Given the description of an element on the screen output the (x, y) to click on. 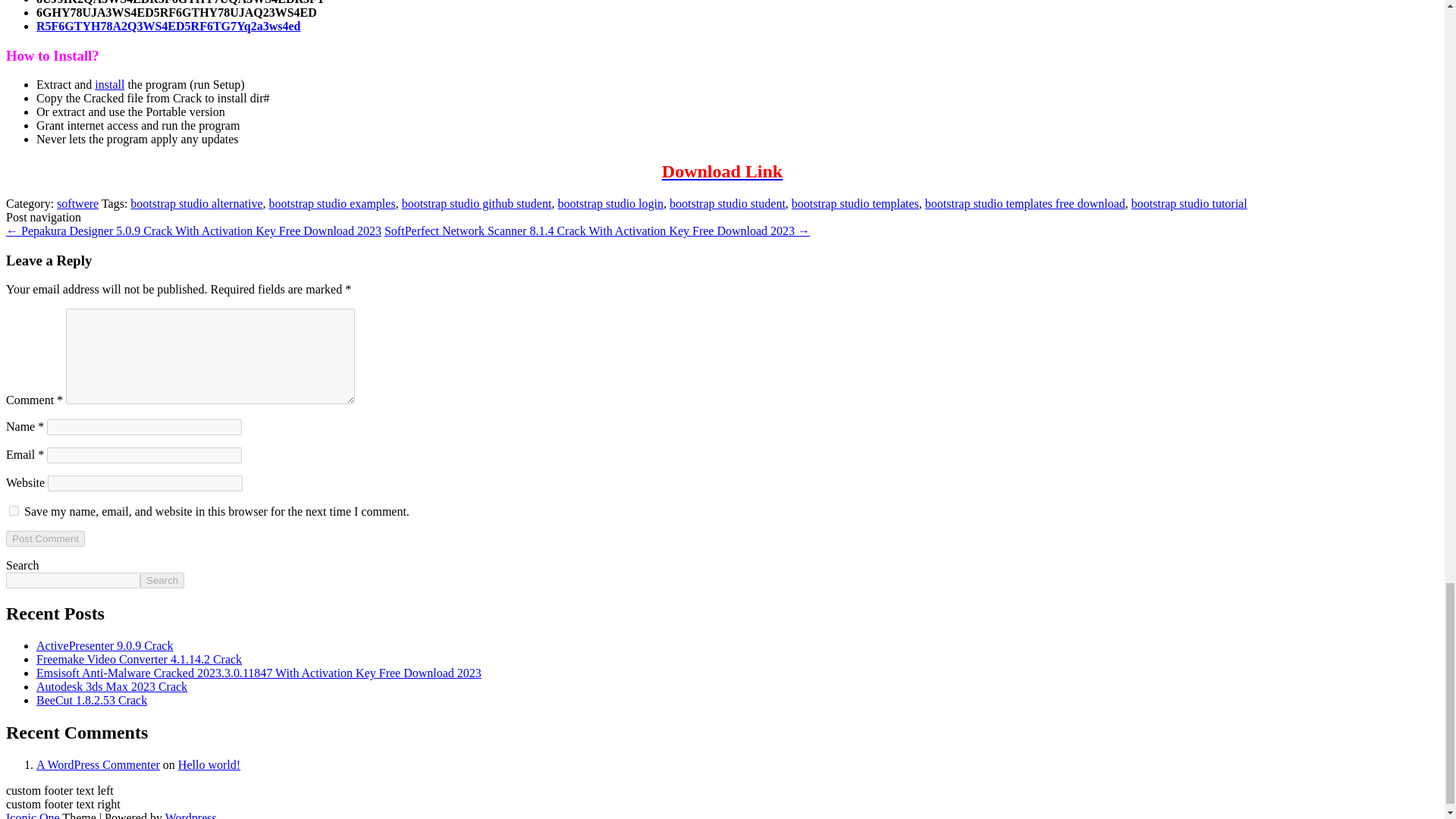
bootstrap studio student (727, 203)
yes (13, 510)
A WordPress Commenter (98, 764)
bootstrap studio templates free download (1024, 203)
bootstrap studio alternative (196, 203)
bootstrap studio templates (855, 203)
bootstrap studio github student (476, 203)
bootstrap studio examples (332, 203)
Search (161, 580)
